Given the description of an element on the screen output the (x, y) to click on. 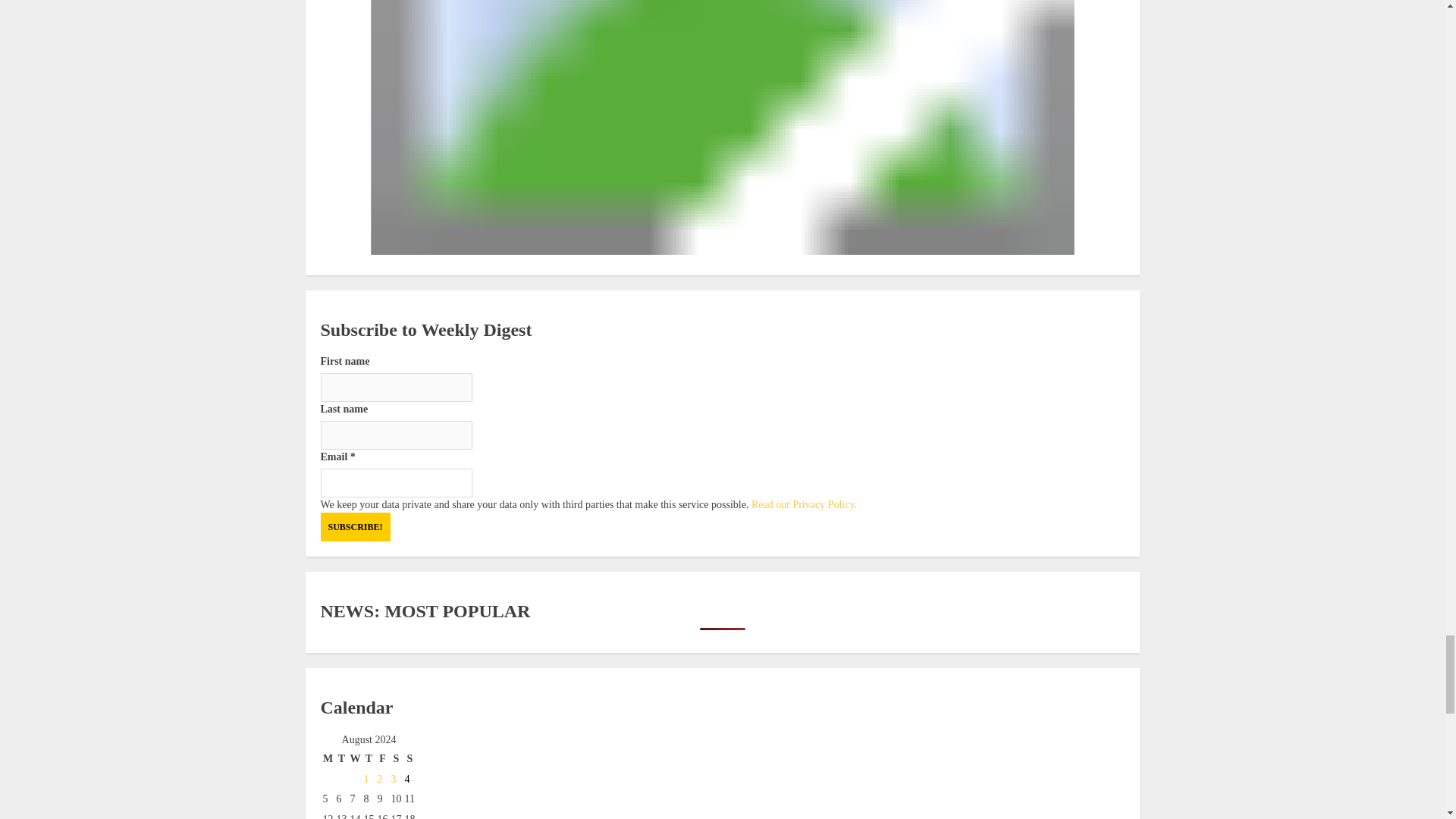
Subscribe! (355, 526)
